Given the description of an element on the screen output the (x, y) to click on. 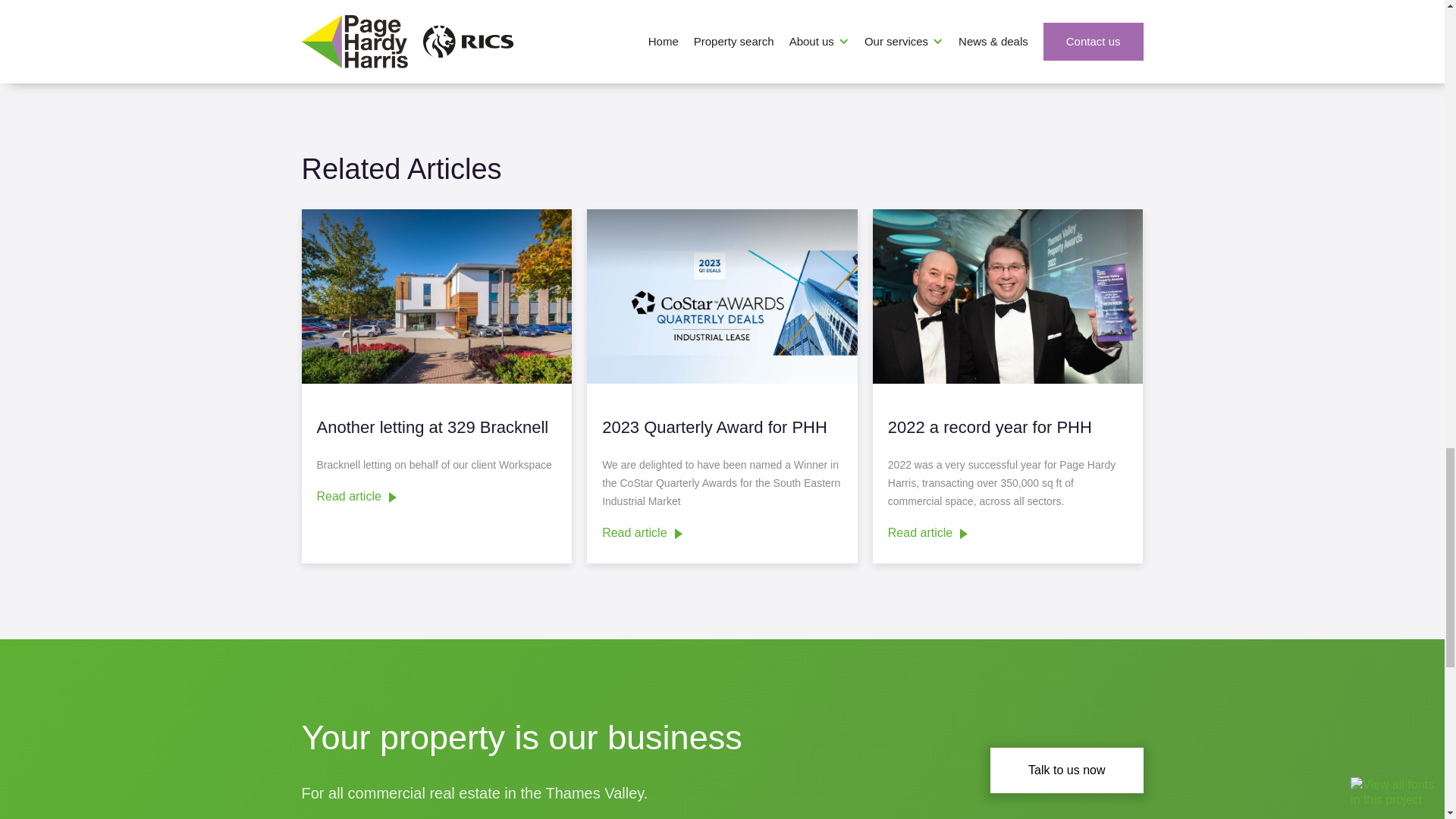
Talk to us now (1066, 770)
Read article (356, 499)
Read article (928, 536)
Read article (641, 536)
